Given the description of an element on the screen output the (x, y) to click on. 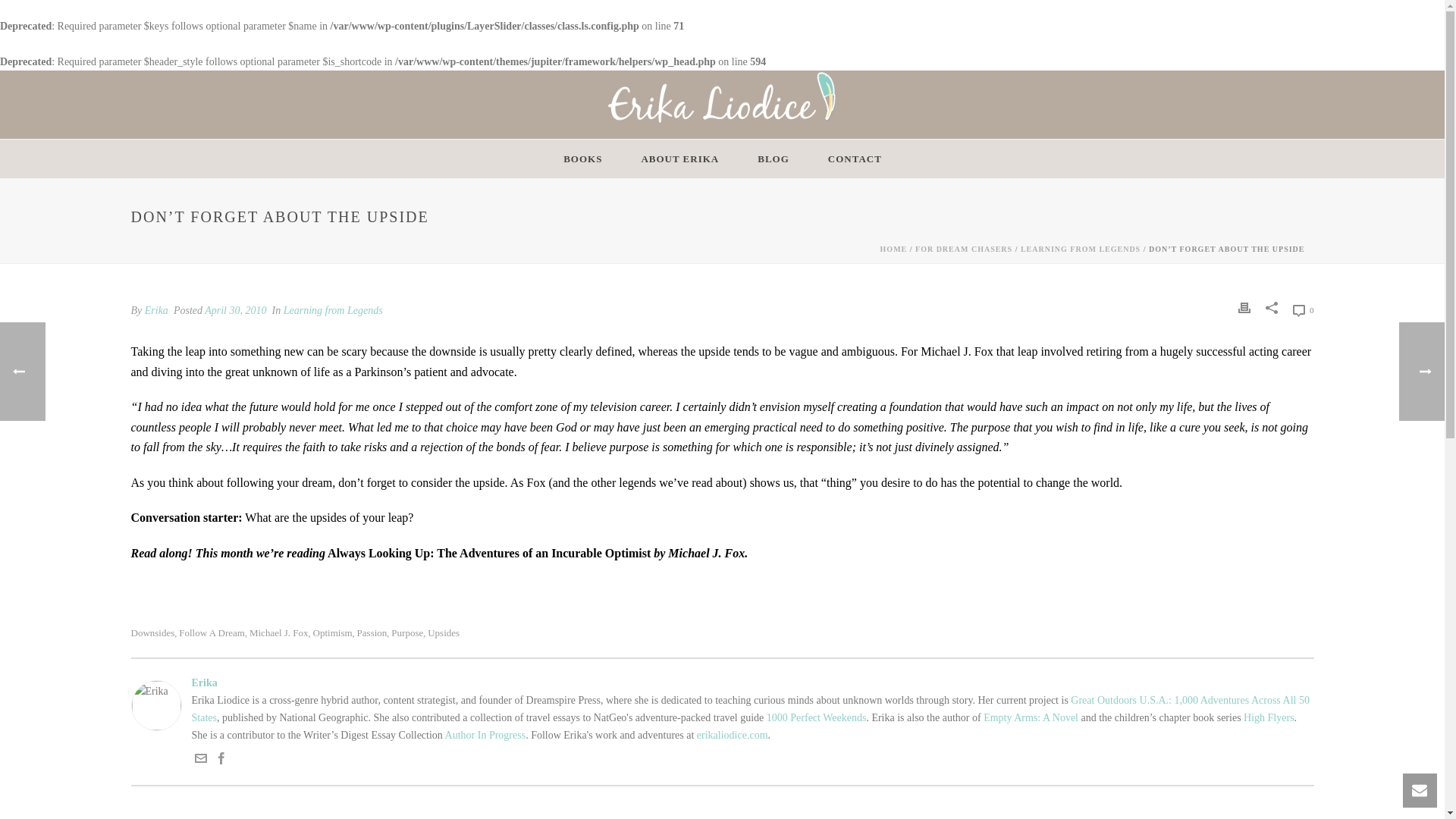
BLOG (773, 158)
CONTACT (855, 158)
0 (1302, 310)
Erika (722, 682)
Michael J. Fox (278, 633)
Follow A Dream (211, 633)
CONTACT (855, 158)
Print (1244, 307)
FOR DREAM CHASERS (963, 248)
Purpose (407, 633)
Learning from Legends (332, 310)
ABOUT ERIKA (679, 158)
April 30, 2010 (235, 310)
BLOG (773, 158)
Downsides (152, 633)
